Given the description of an element on the screen output the (x, y) to click on. 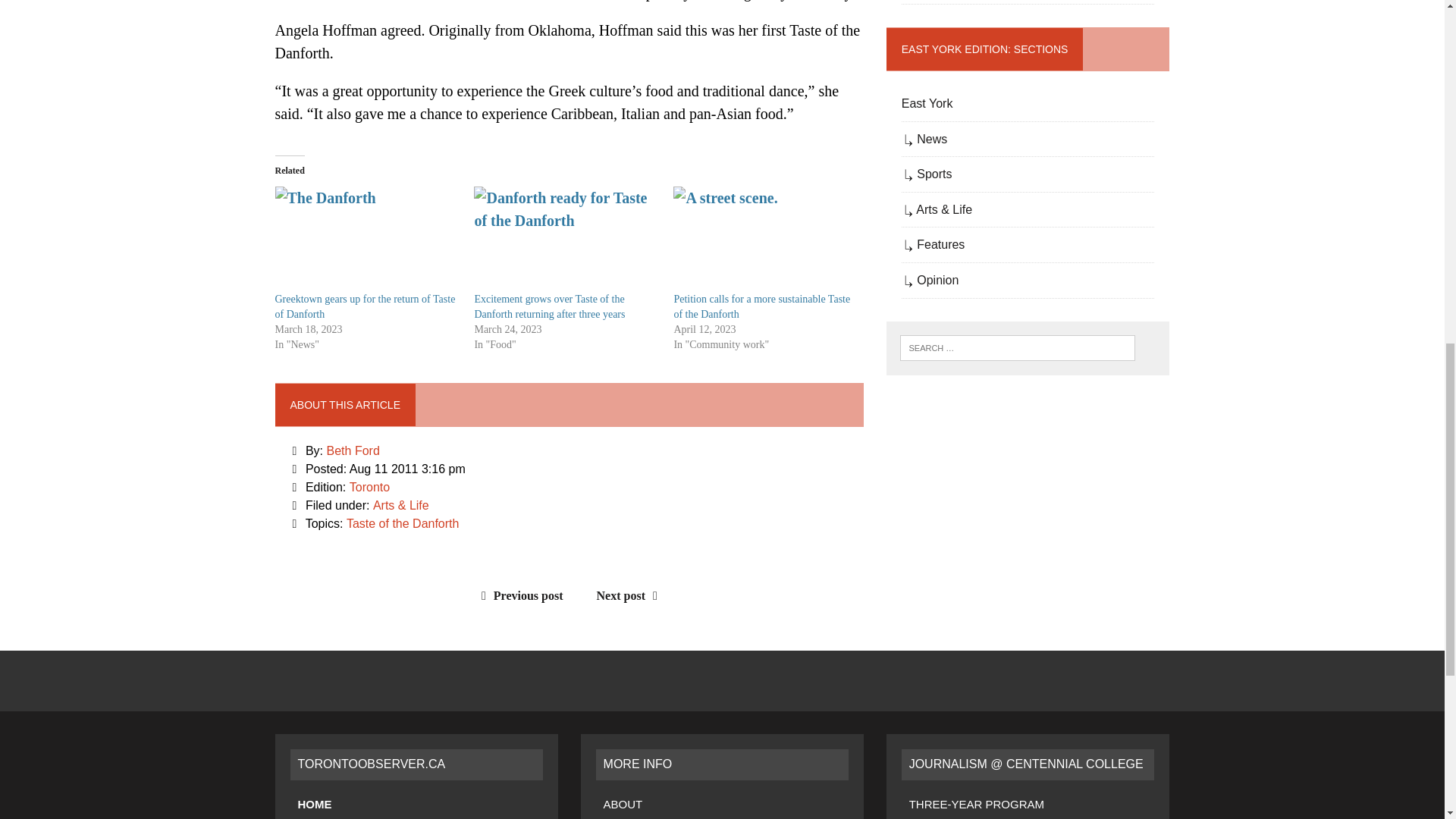
Petition calls for a more sustainable Taste of the Danforth (764, 238)
Home (314, 803)
News (314, 817)
Petition calls for a more sustainable Taste of the Danforth (761, 306)
Greektown gears up for the return of Taste of Danforth (366, 238)
Greektown gears up for the return of Taste of Danforth (364, 306)
Beth Ford (353, 450)
